Given the description of an element on the screen output the (x, y) to click on. 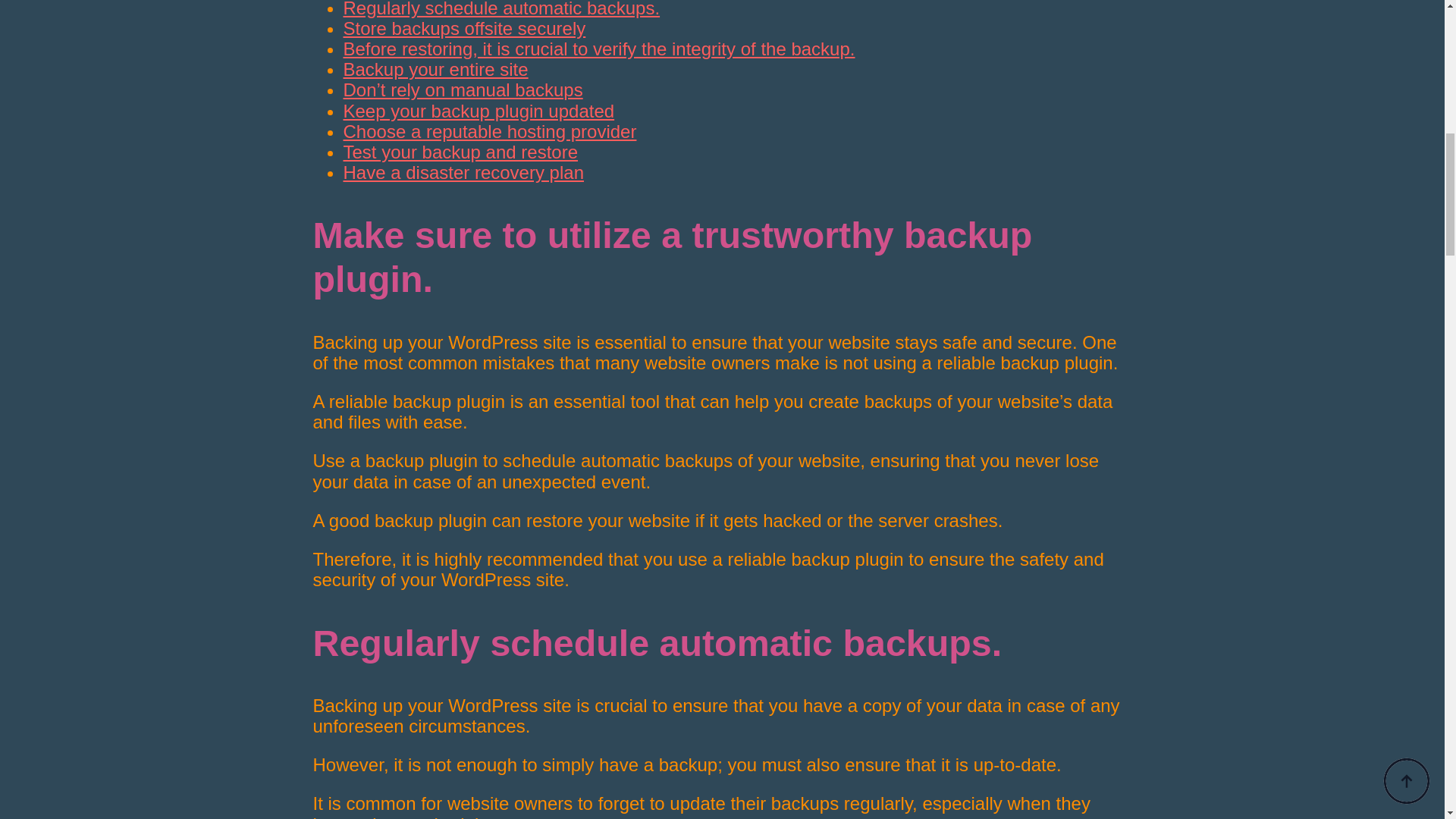
Store backups offsite securely (463, 28)
Test your backup and restore (460, 151)
Have a disaster recovery plan (462, 172)
Regularly schedule automatic backups. (500, 9)
Choose a reputable hosting provider (489, 131)
Keep your backup plugin updated (478, 109)
Backup your entire site (434, 68)
